Given the description of an element on the screen output the (x, y) to click on. 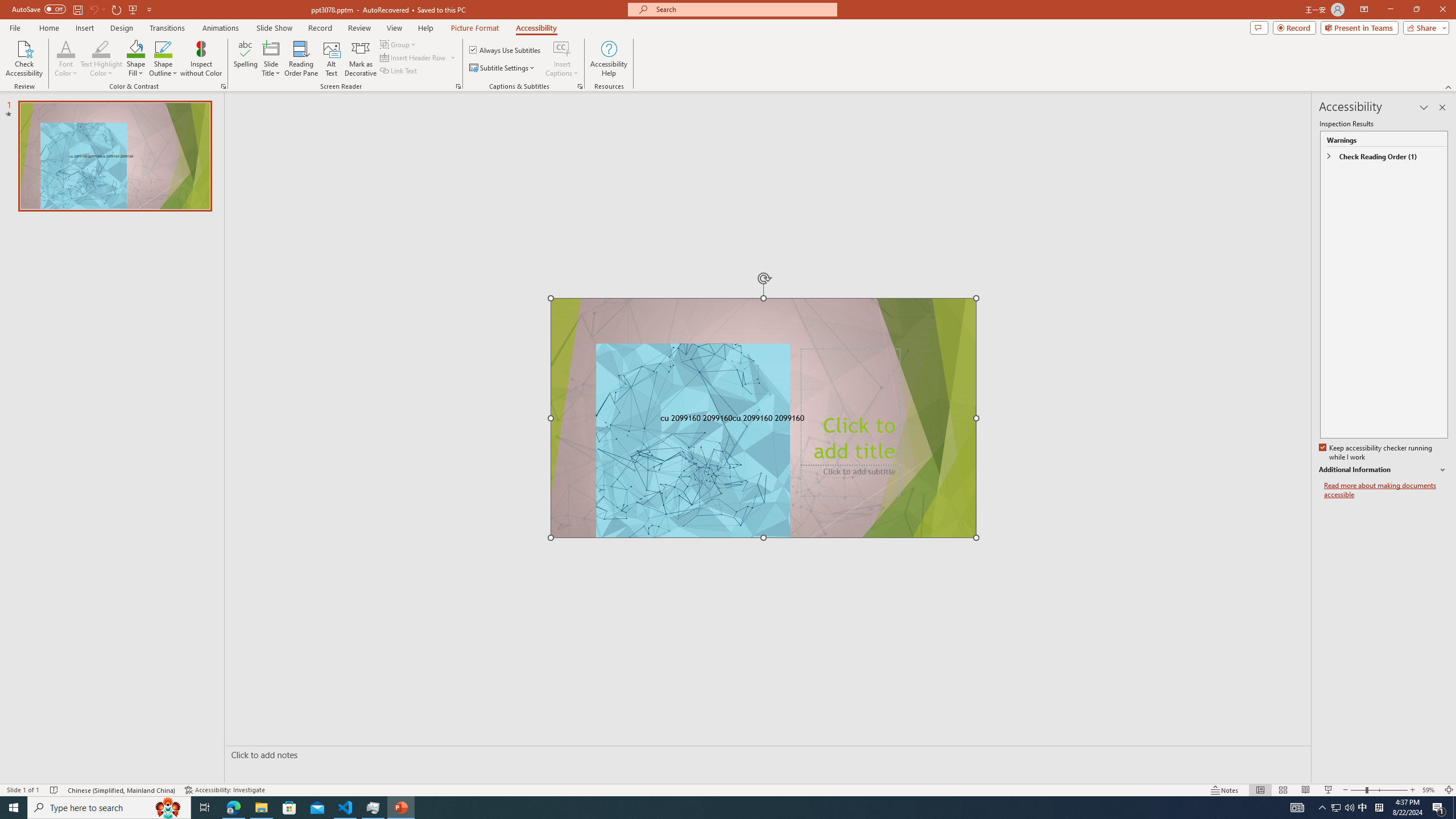
Insert Header Row (413, 56)
Link Text (399, 69)
Reading Order Pane (301, 58)
Insert Captions (561, 48)
